Given the description of an element on the screen output the (x, y) to click on. 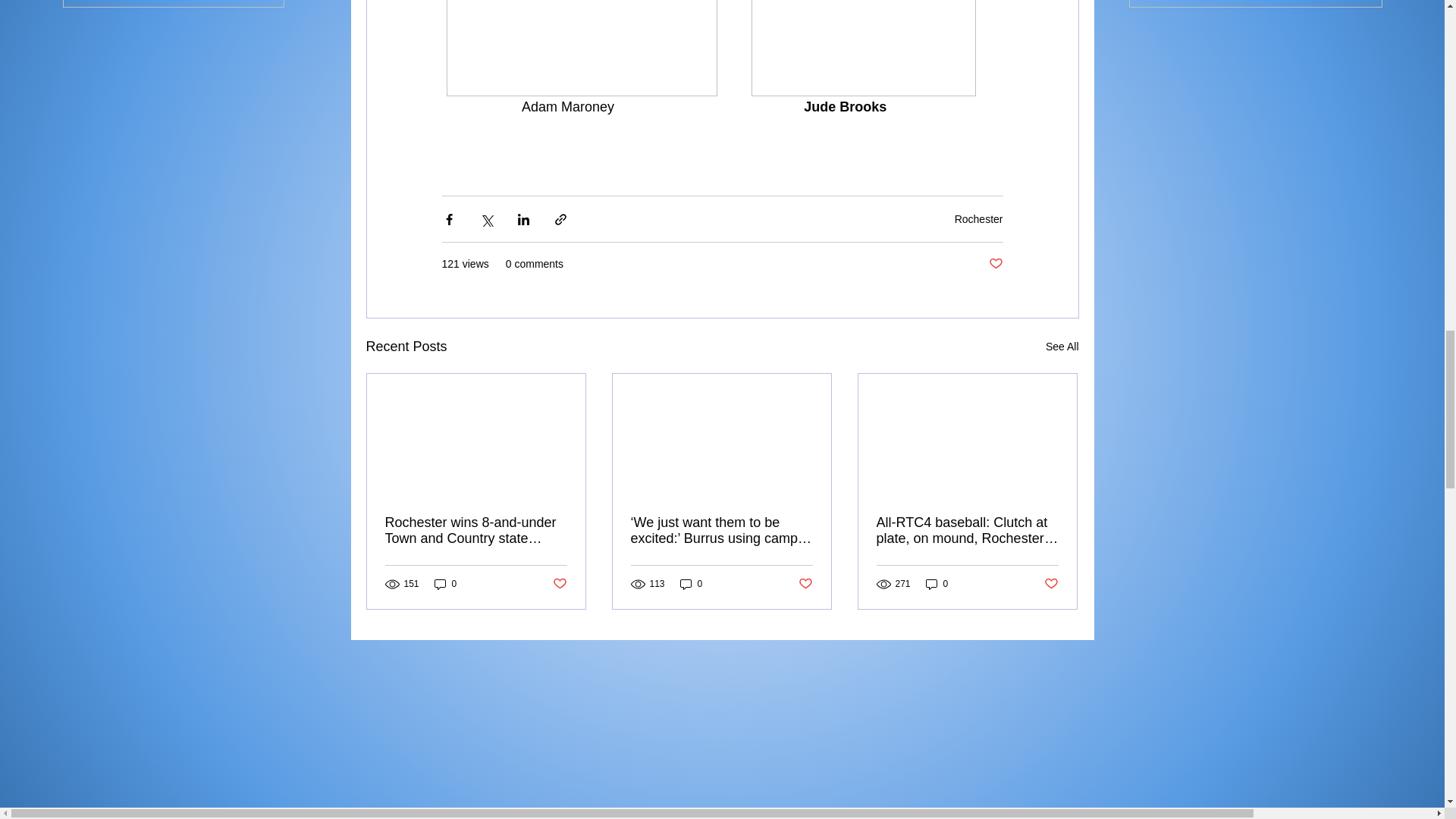
0 (937, 584)
0 (445, 584)
0 (691, 584)
Rochester (979, 218)
Post not marked as liked (1050, 584)
Post not marked as liked (558, 584)
Post not marked as liked (804, 584)
See All (1061, 346)
Post not marked as liked (995, 263)
